Given the description of an element on the screen output the (x, y) to click on. 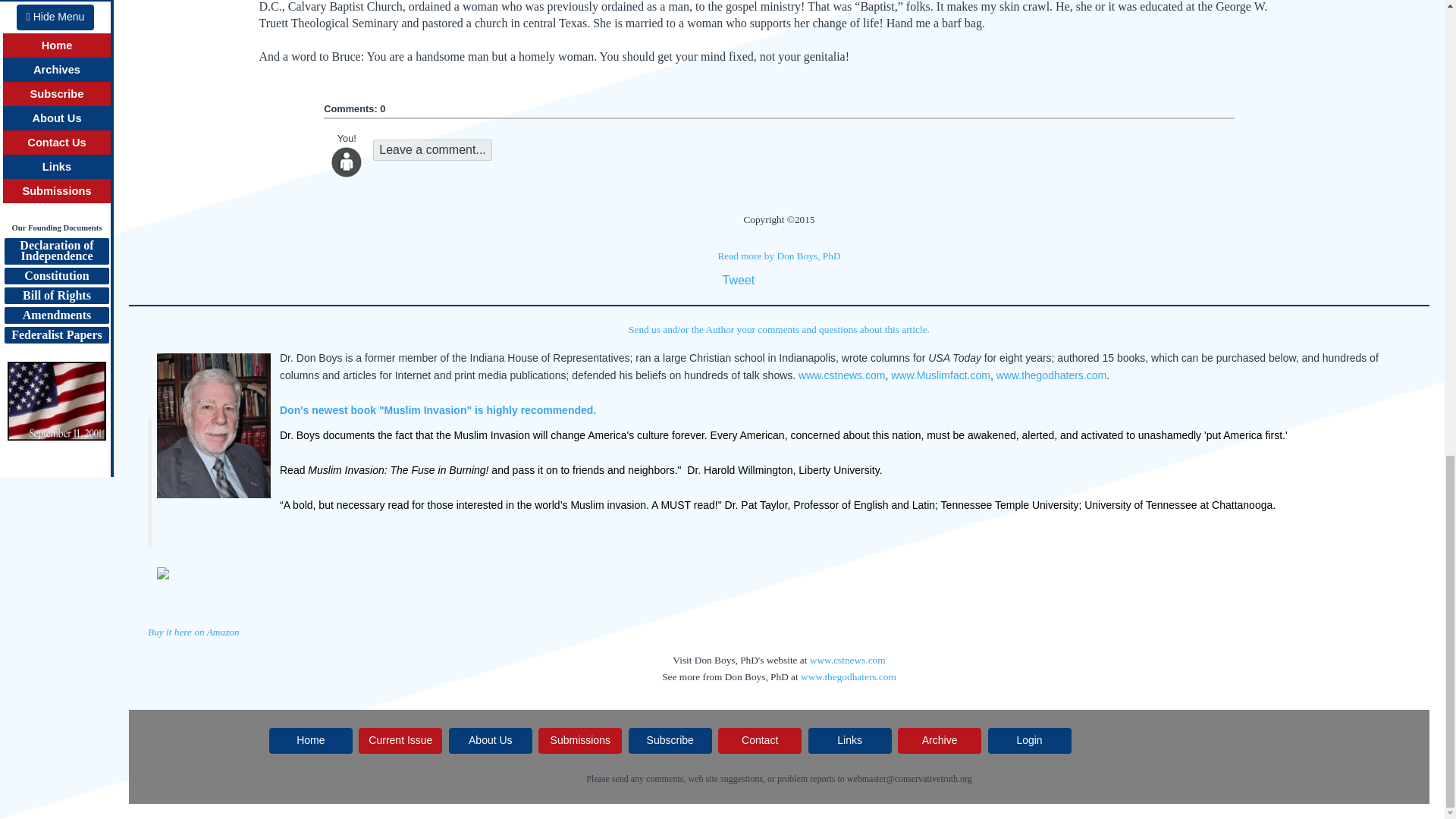
About Us (490, 740)
Leave a comment... (432, 149)
Read more by Don Boys, PhD (778, 255)
www.Muslimfact.com (940, 375)
www.thegodhaters.com (848, 676)
www.cstnews.com (847, 659)
Submissions (579, 740)
Home (310, 740)
Buy it here on Amazon (194, 632)
Tweet (738, 279)
Don's newest book "Muslim Invasion" is highly recommended. (437, 410)
www.thegodhaters.com (1050, 375)
Current Issue (400, 740)
www.cstnews.com (841, 375)
